Given the description of an element on the screen output the (x, y) to click on. 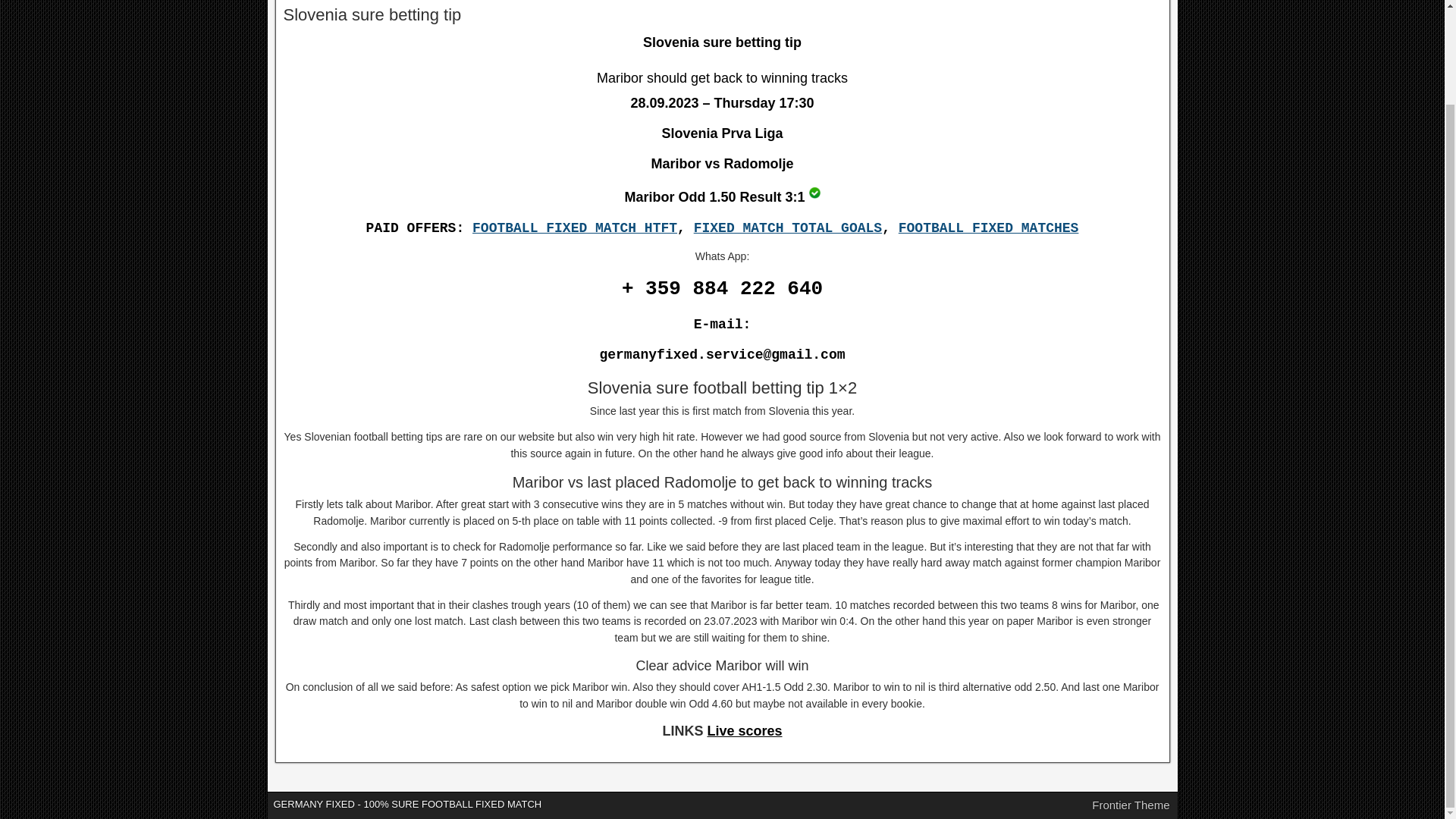
FOOTBALL FIXED MATCH HTFT (574, 227)
Live scores (743, 730)
FOOTBALL FIXED MATCHES (988, 227)
Slovenia sure betting tip (815, 193)
FIXED MATCH TOTAL GOALS (788, 227)
Slovenia sure betting tip (372, 14)
Frontier Theme (1130, 804)
